Given the description of an element on the screen output the (x, y) to click on. 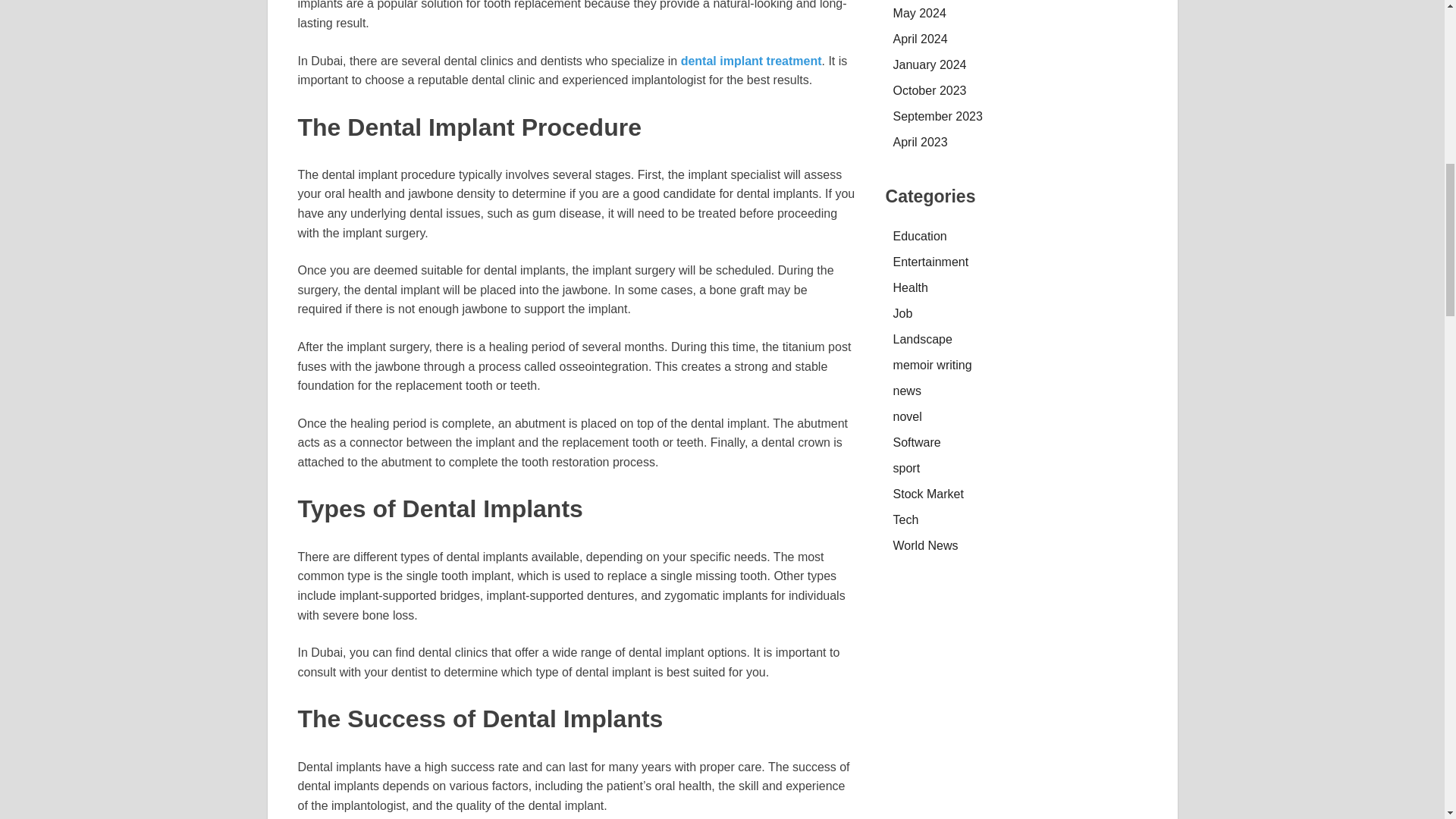
dental implant treatment (751, 60)
